Given the description of an element on the screen output the (x, y) to click on. 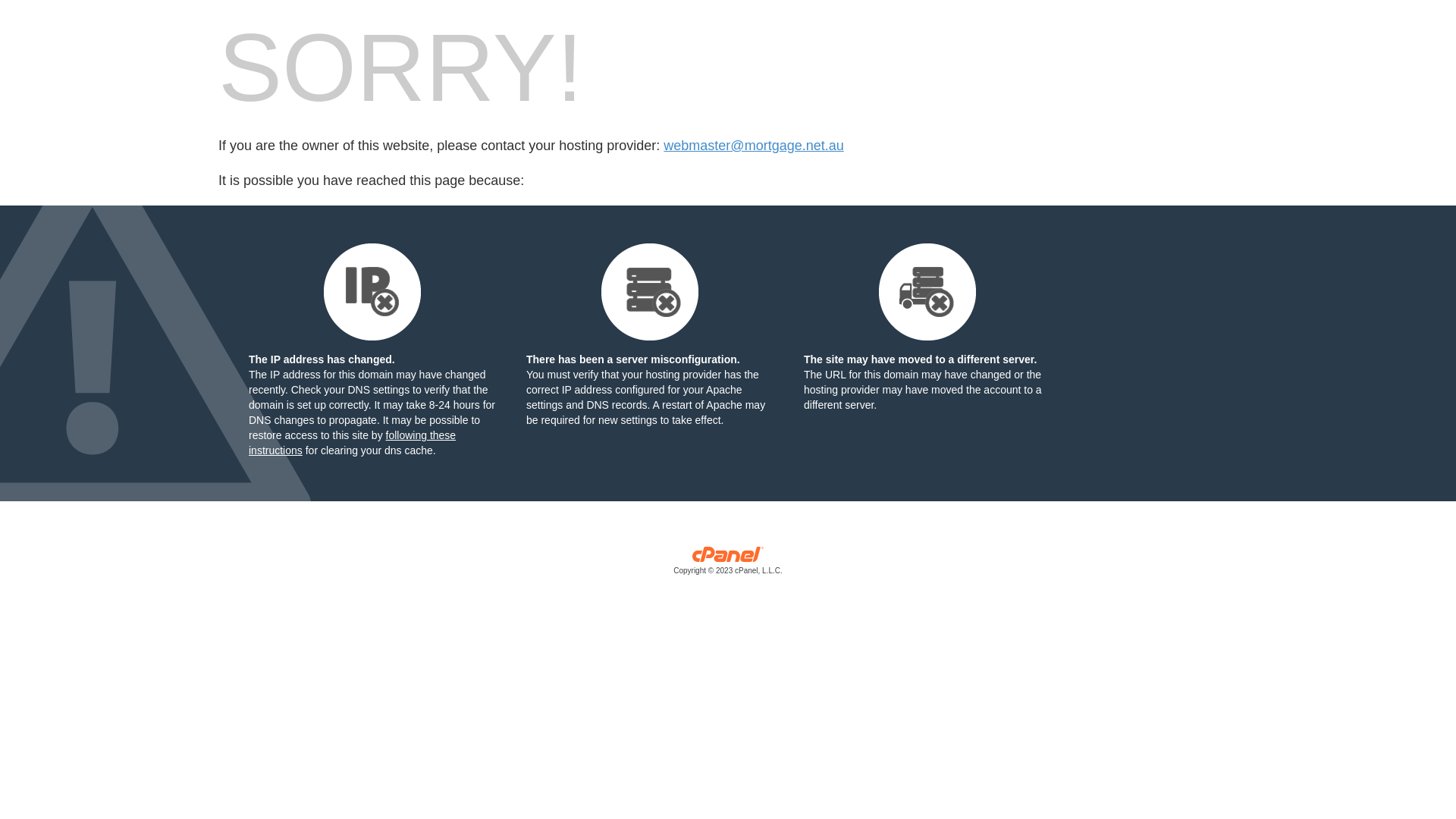
following these instructions Element type: text (351, 442)
webmaster@mortgage.net.au Element type: text (753, 145)
